Given the description of an element on the screen output the (x, y) to click on. 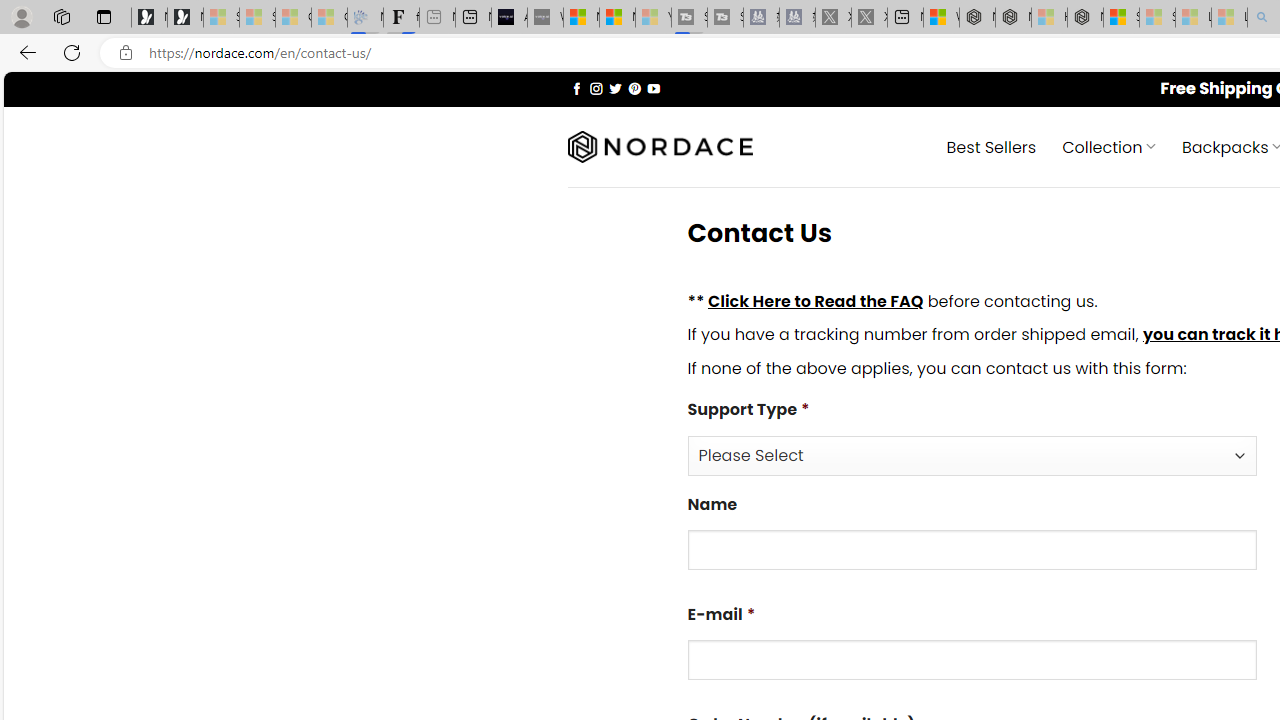
 Best Sellers (990, 146)
